Given the description of an element on the screen output the (x, y) to click on. 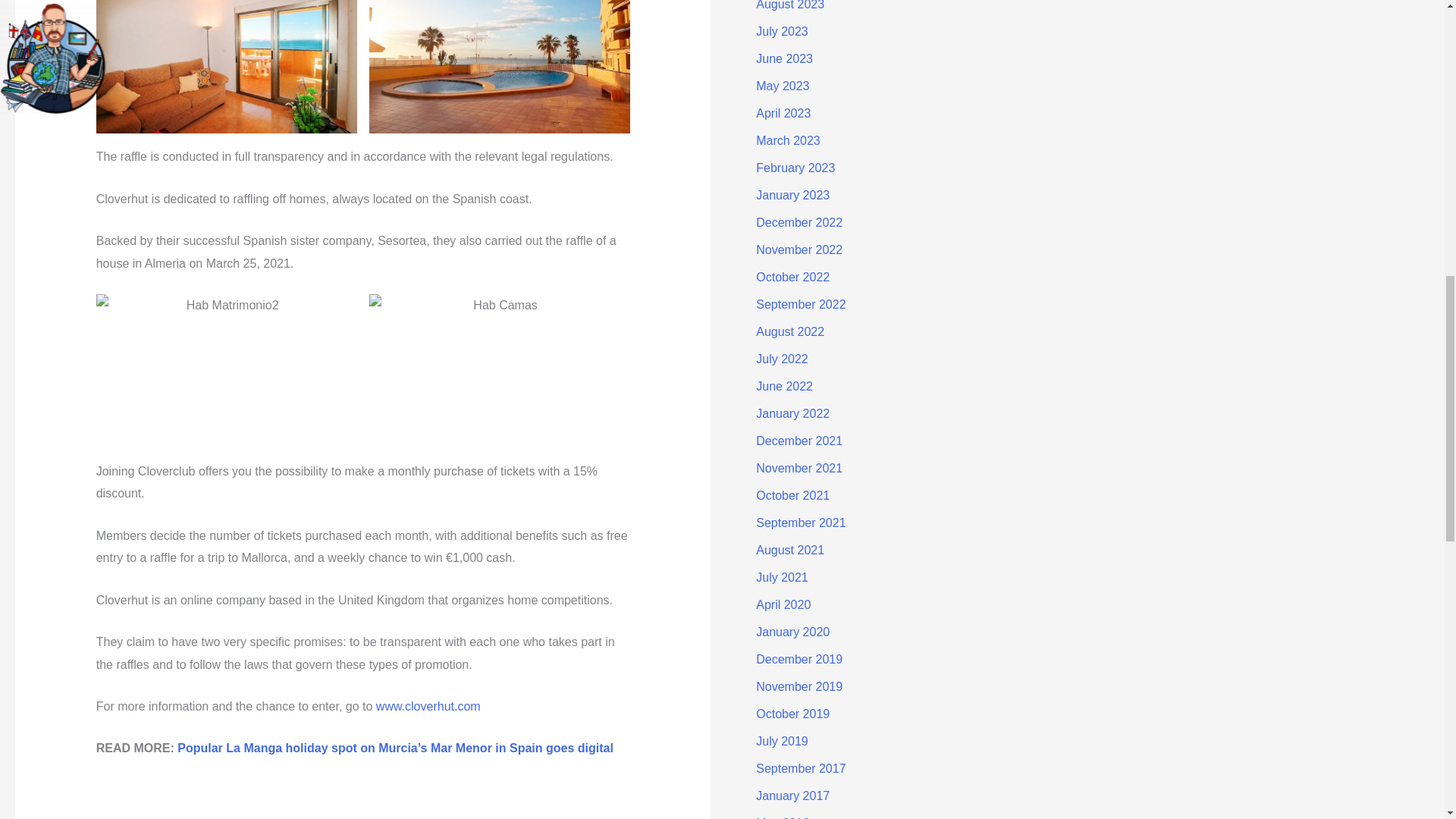
August 2023 (789, 5)
April 2023 (782, 113)
June 2023 (783, 58)
May 2023 (782, 85)
March 2023 (788, 140)
www.cloverhut.com (427, 706)
July 2023 (781, 31)
